Given the description of an element on the screen output the (x, y) to click on. 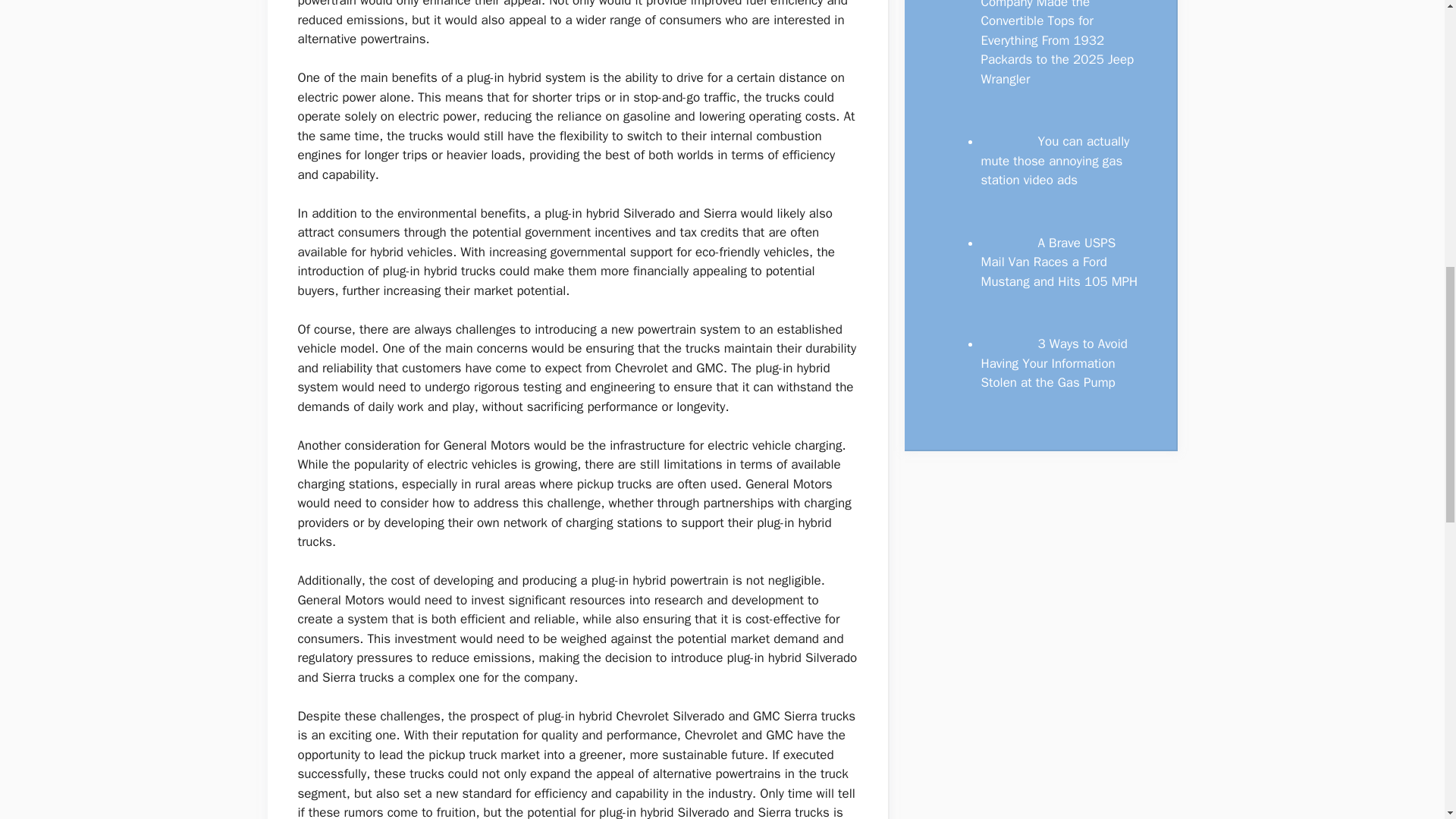
Scroll back to top (1406, 720)
You can actually mute those annoying gas station video ads (1055, 160)
A Brave USPS Mail Van Races a Ford Mustang and Hits 105 MPH (1059, 262)
